Given the description of an element on the screen output the (x, y) to click on. 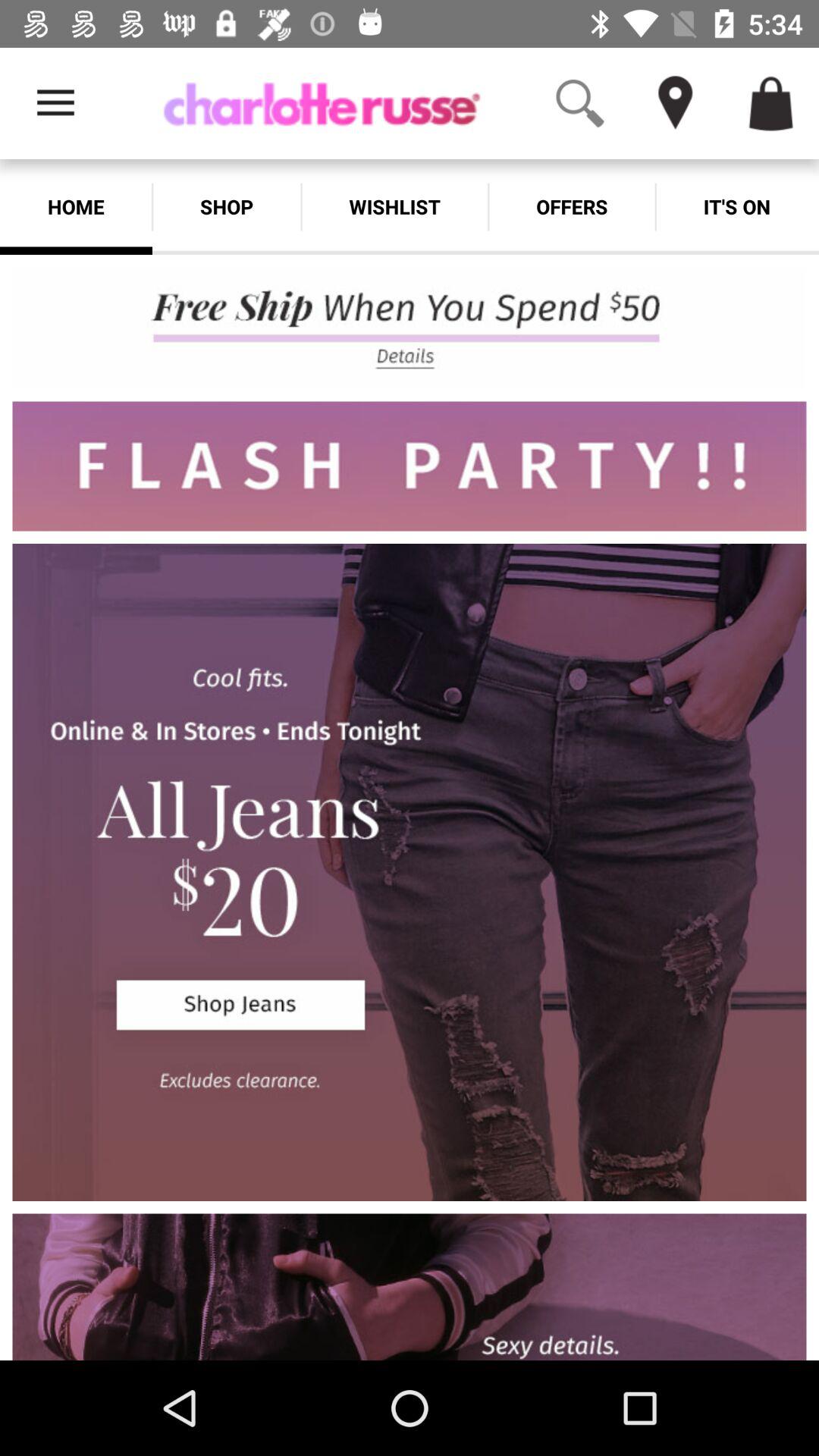
press icon above it's on item (771, 103)
